Given the description of an element on the screen output the (x, y) to click on. 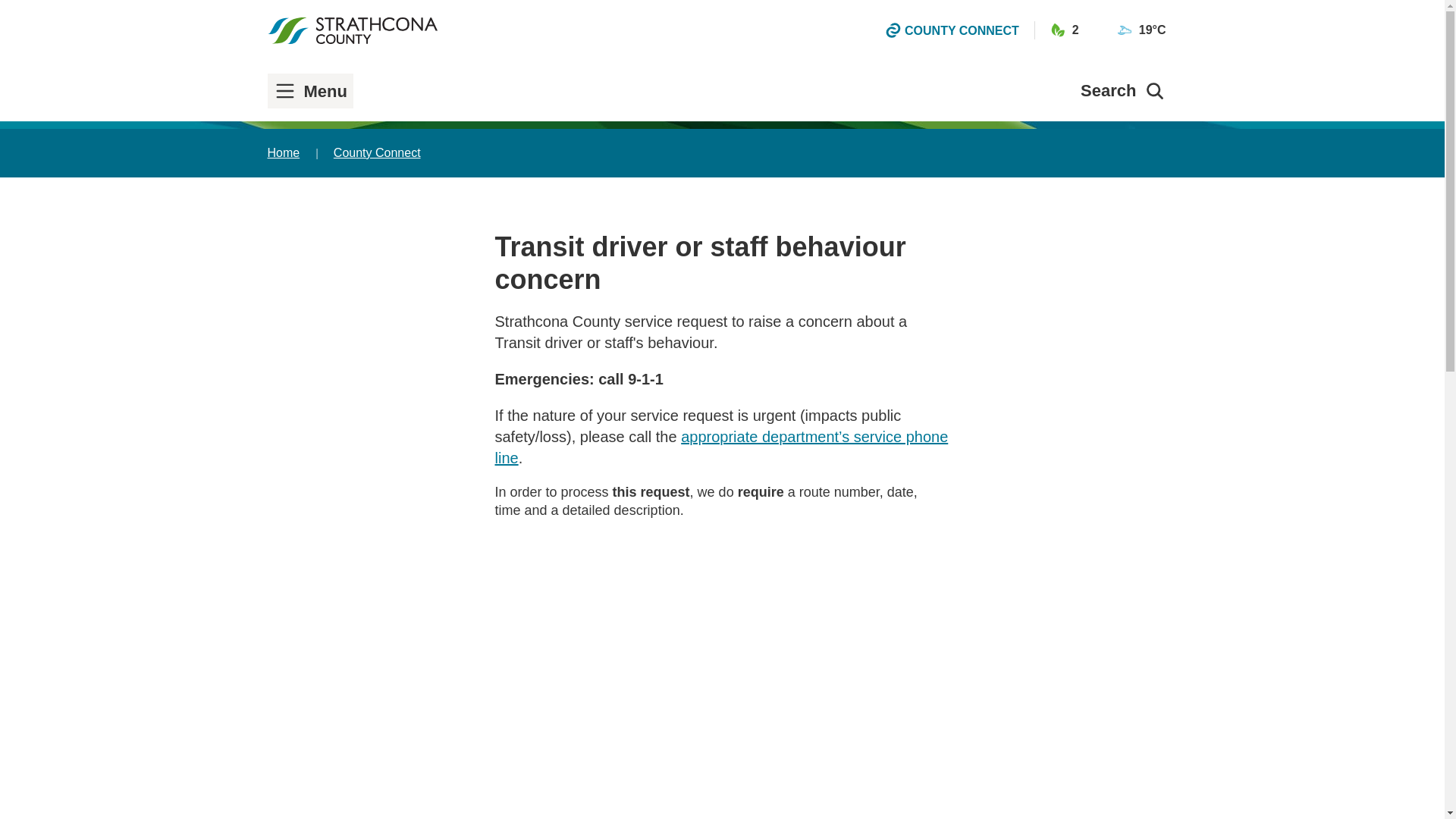
Menu (311, 90)
COUNTY CONNECT (952, 29)
Search (1122, 90)
